Given the description of an element on the screen output the (x, y) to click on. 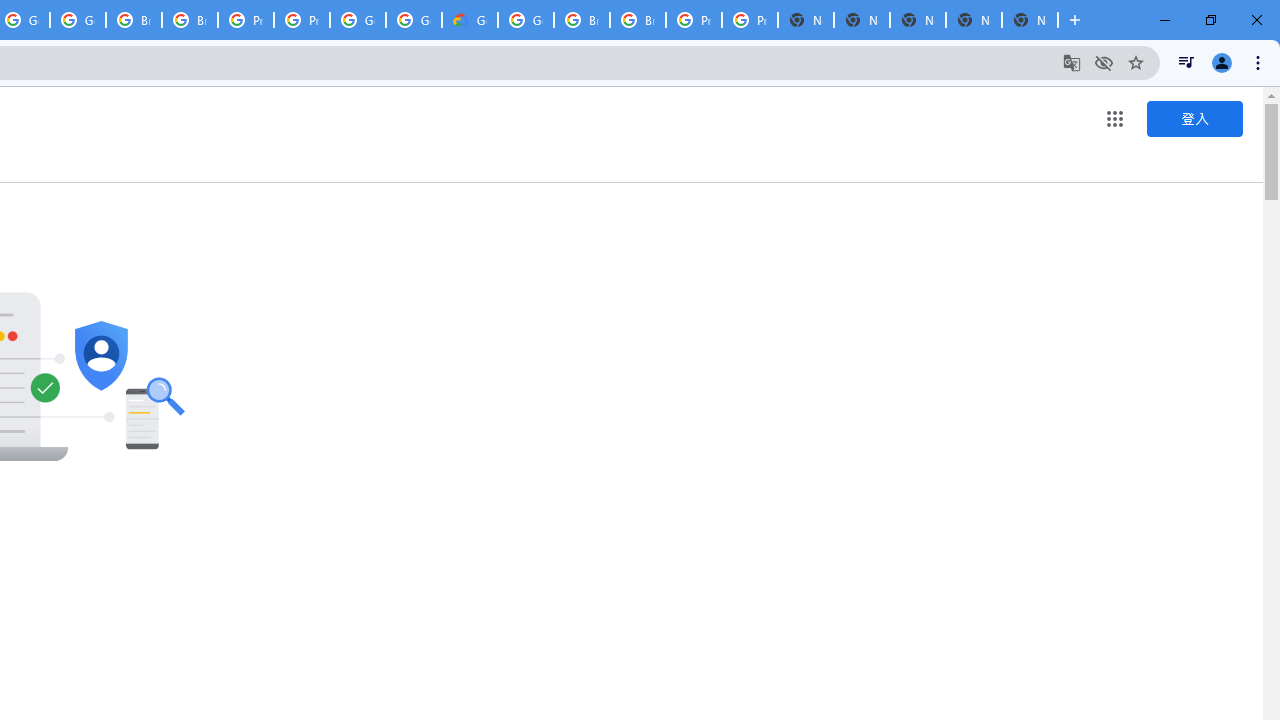
Browse Chrome as a guest - Computer - Google Chrome Help (189, 20)
Browse Chrome as a guest - Computer - Google Chrome Help (582, 20)
Translate this page (1071, 62)
Google Cloud Platform (358, 20)
Google Cloud Platform (413, 20)
Google Cloud Estimate Summary (469, 20)
